Given the description of an element on the screen output the (x, y) to click on. 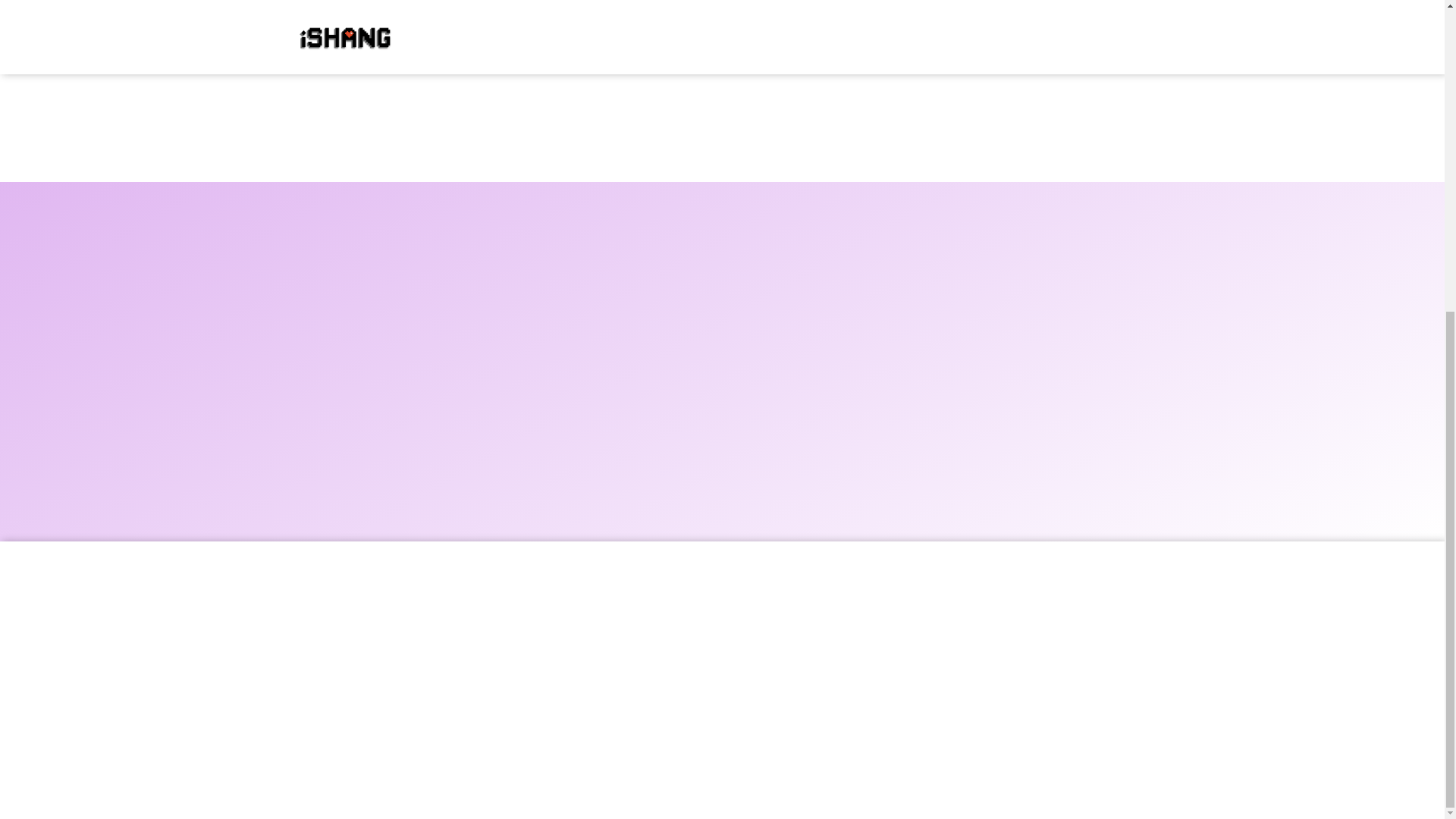
yes (5, 12)
Post Comment (59, 51)
Post Comment (59, 51)
